Given the description of an element on the screen output the (x, y) to click on. 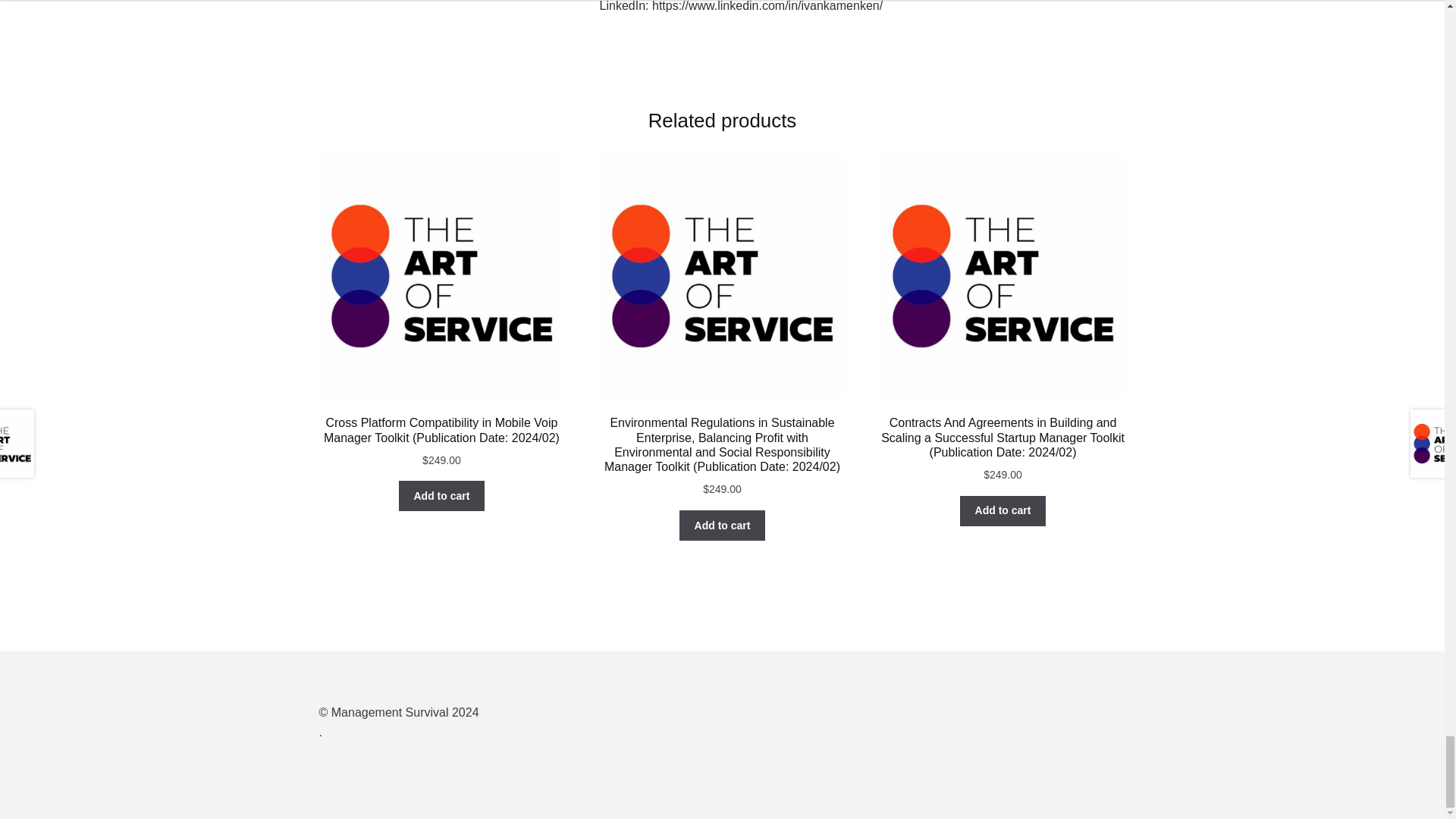
Add to cart (722, 525)
Add to cart (1002, 511)
Add to cart (441, 495)
